Given the description of an element on the screen output the (x, y) to click on. 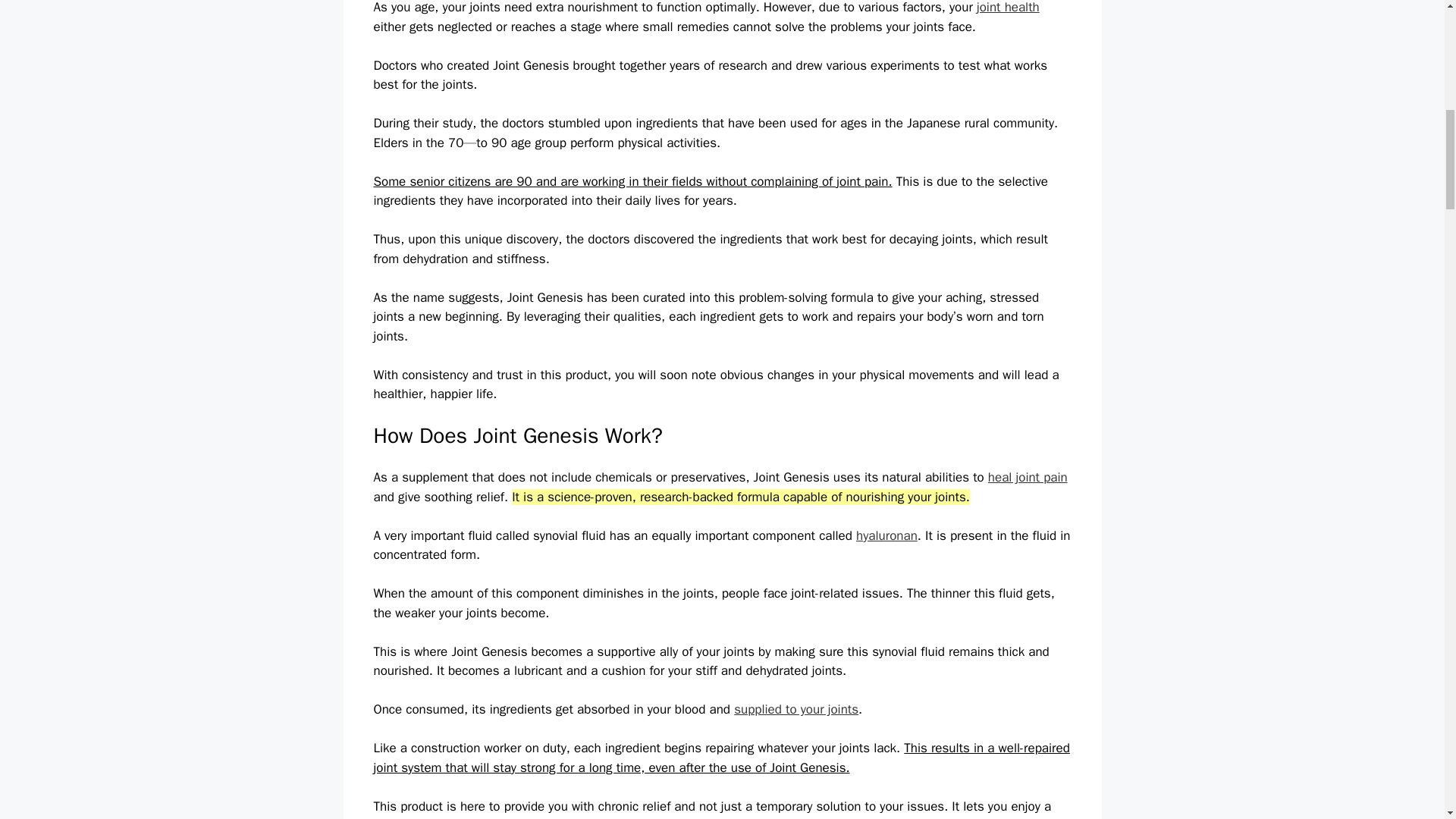
supplied to your joints (796, 709)
heal joint pain (1027, 477)
hyaluronan (886, 535)
joint health (1007, 7)
